Given the description of an element on the screen output the (x, y) to click on. 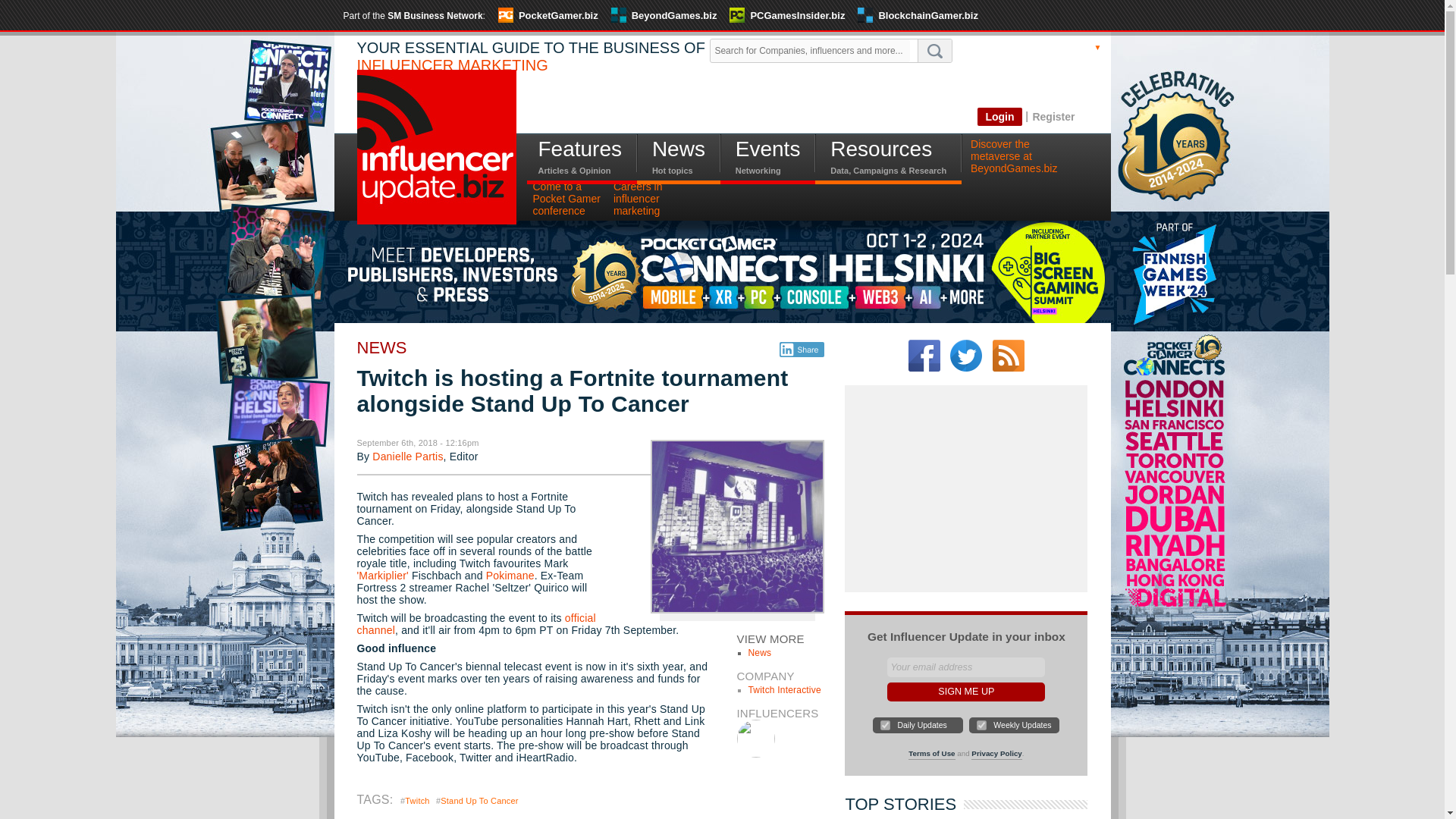
Influencer Update (435, 159)
3rd party ad content (801, 103)
SIGN ME UP (965, 691)
2 (981, 725)
Influencer Update (435, 146)
1 (884, 725)
Register (1053, 116)
Login (999, 116)
